Given the description of an element on the screen output the (x, y) to click on. 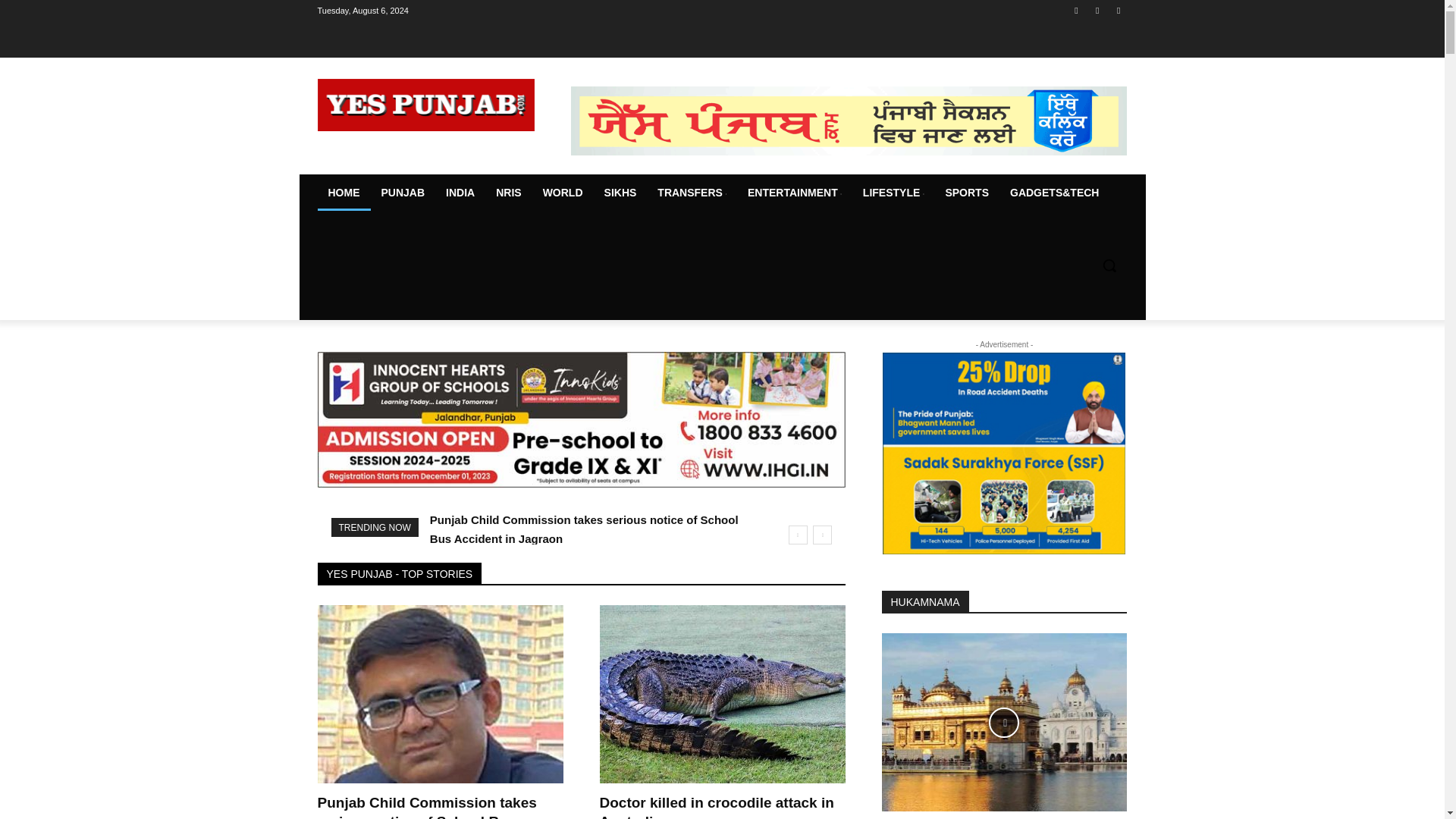
ENTERTAINMENT (793, 192)
TRANSFERS (691, 192)
Twitter (1117, 9)
WORLD (563, 192)
Instagram (1097, 9)
INDIA (459, 192)
SIKHS (620, 192)
